Given the description of an element on the screen output the (x, y) to click on. 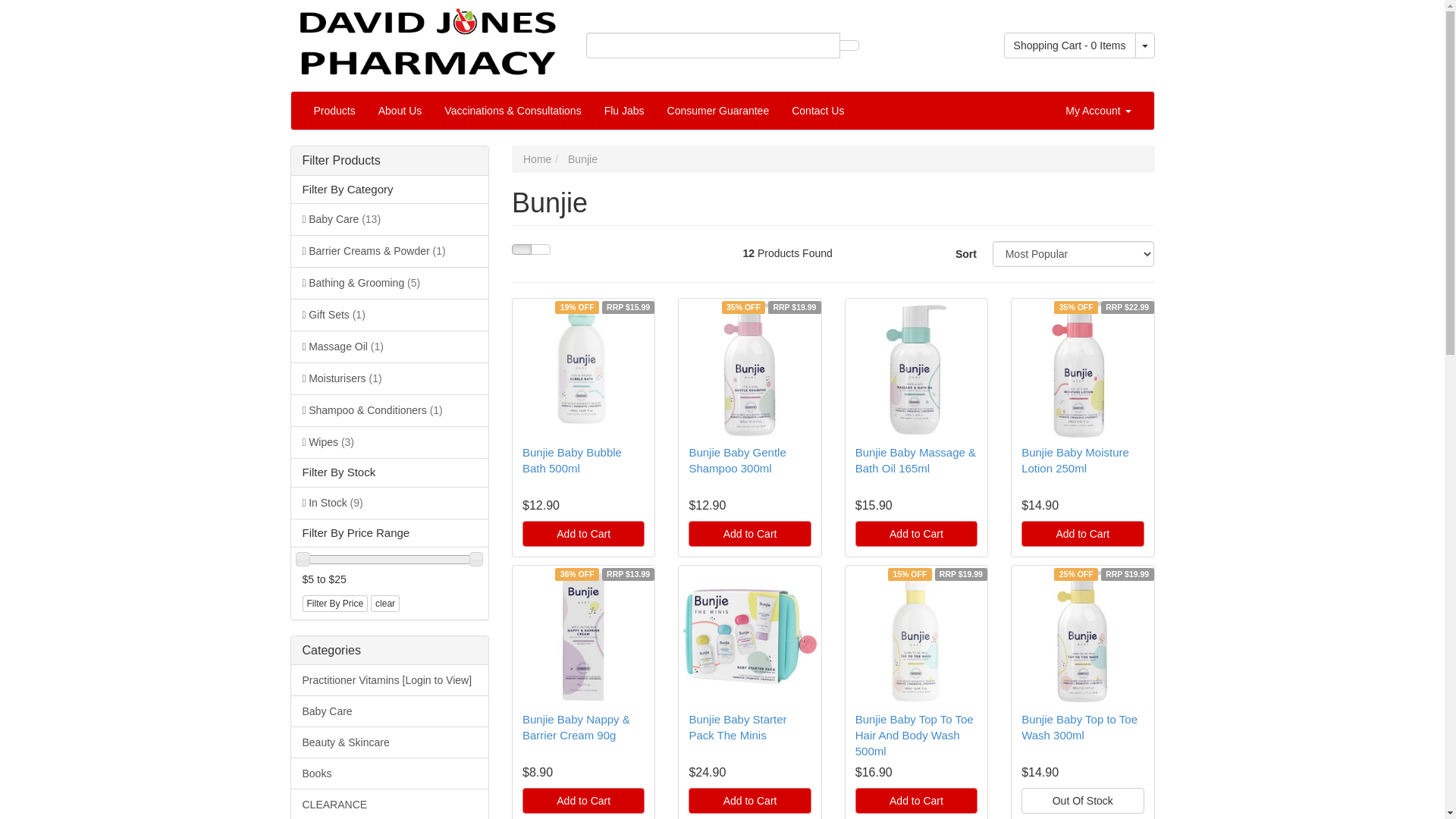
Consumer Guarantee Element type: text (718, 110)
Bunjie Baby Gentle Shampoo 300ml Element type: text (736, 459)
Shopping Cart - 0 Items Element type: text (1069, 45)
Filter By Price Element type: text (334, 603)
Bathing & Grooming (5) Element type: text (390, 282)
Search Element type: text (848, 45)
Baby Care (13) Element type: text (390, 219)
Bunjie Baby Top To Toe Hair And Body Wash 500ml Element type: text (914, 734)
Vaccinations & Consultations Element type: text (512, 110)
Filter Products Element type: text (388, 160)
Bunjie Baby Moisture Lotion 250ml Element type: text (1075, 459)
Home Element type: text (537, 159)
Bunjie Baby Nappy & Barrier Cream 90g Element type: text (576, 726)
Bunjie Baby Bubble Bath 500ml Element type: text (571, 459)
Products Element type: text (333, 110)
Massage Oil (1) Element type: text (390, 346)
Shampoo & Conditioners (1) Element type: text (390, 410)
David Jones Pharmacy Online Element type: hover (425, 37)
Gift Sets (1) Element type: text (390, 314)
About Us Element type: text (400, 110)
Baby Care Element type: text (390, 711)
Books Element type: text (390, 772)
Contact Us Element type: text (817, 110)
Add to Cart Element type: text (916, 533)
Wipes (3) Element type: text (390, 442)
Flu Jabs Element type: text (624, 110)
Moisturisers (1) Element type: text (390, 378)
Bunjie Baby Massage & Bath Oil 165ml Element type: text (915, 459)
Bunjie Baby Starter Pack The Minis Element type: text (737, 726)
My Account Element type: text (1098, 110)
Barrier Creams & Powder (1) Element type: text (390, 250)
Bunjie Element type: text (582, 159)
Bunjie Baby Top to Toe Wash 300ml Element type: text (1079, 726)
Add to Cart Element type: text (916, 800)
Out Of Stock Element type: text (1082, 800)
Add to Cart Element type: text (1082, 533)
Add to Cart Element type: text (749, 800)
Add to Cart Element type: text (749, 533)
clear Element type: text (384, 603)
Beauty & Skincare Element type: text (390, 742)
In Stock (9) Element type: text (390, 502)
Practitioner Vitamins [Login to View] Element type: text (390, 680)
Add to Cart Element type: text (583, 533)
Add to Cart Element type: text (583, 800)
